Given the description of an element on the screen output the (x, y) to click on. 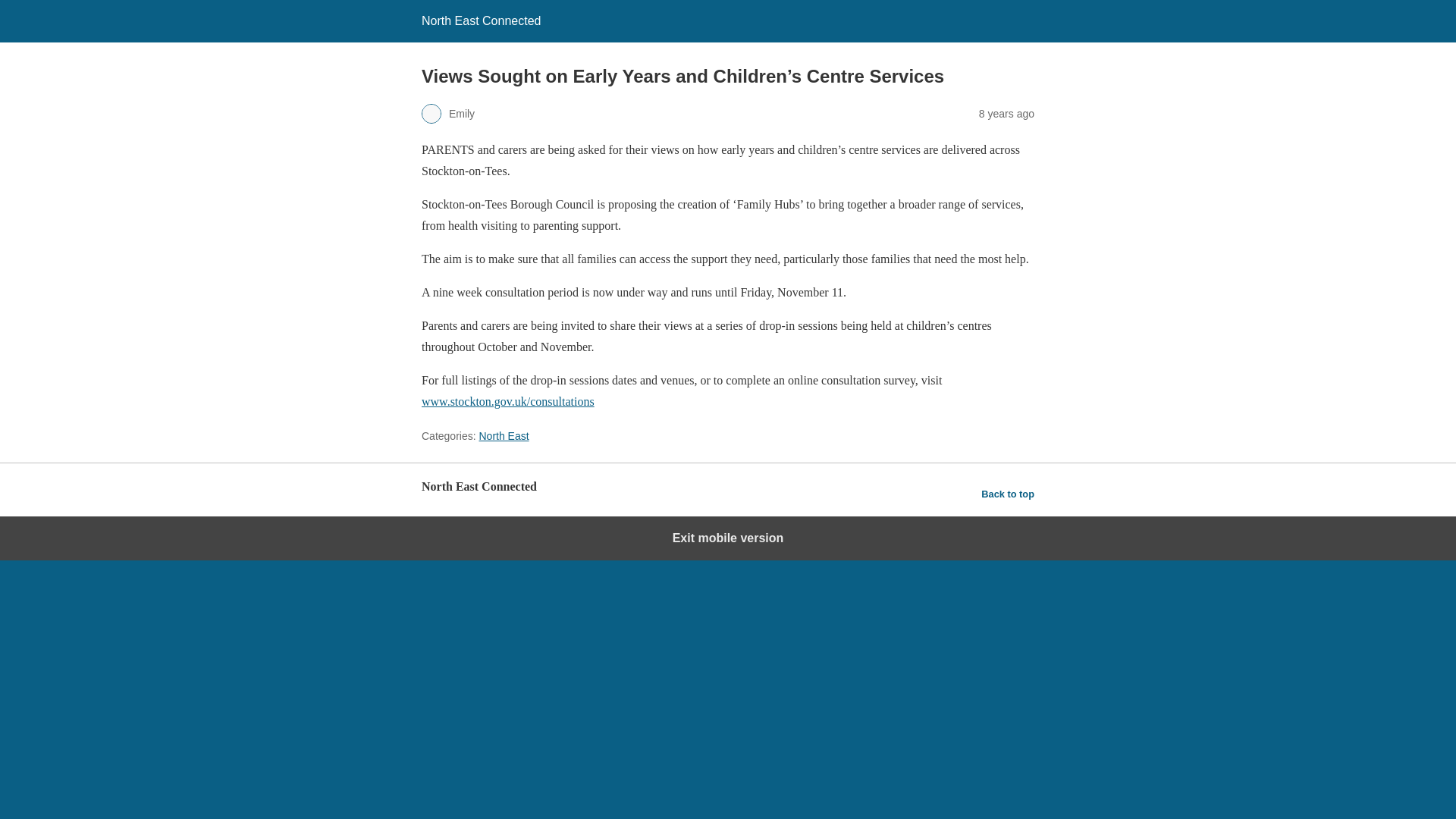
Back to top (1007, 494)
North East Connected (481, 20)
North East (503, 435)
